Given the description of an element on the screen output the (x, y) to click on. 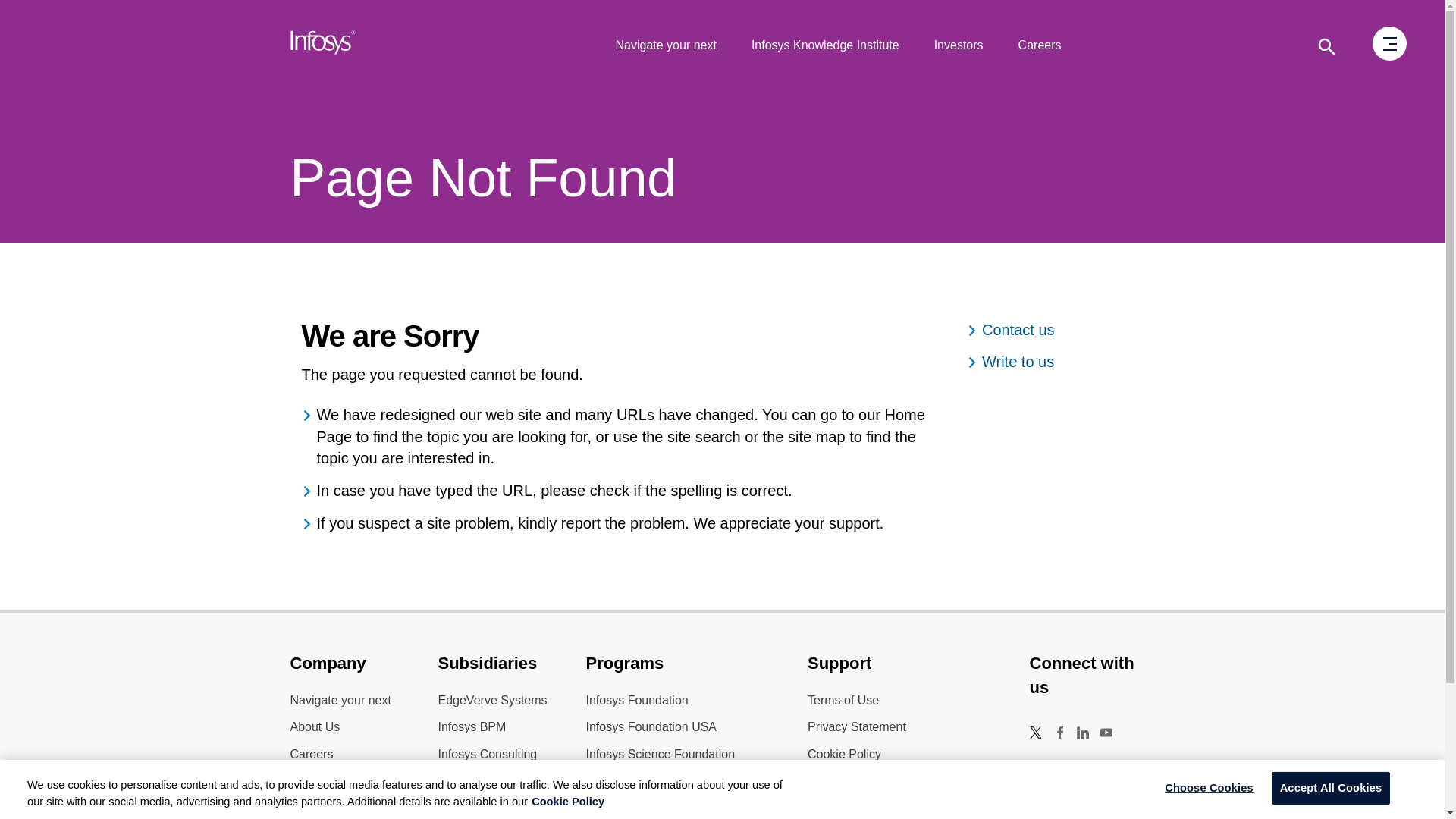
Investor Relations (958, 45)
Infosys Knowledge Institute Business and Technology Trends (825, 45)
Careers (1040, 45)
Navigate your next digital framework (665, 45)
Infosys Knowledge Institute (825, 45)
Explore Careers Opportunities (1040, 45)
Investors (958, 45)
Go to Infosys Home (322, 45)
Navigate your next (665, 45)
